Given the description of an element on the screen output the (x, y) to click on. 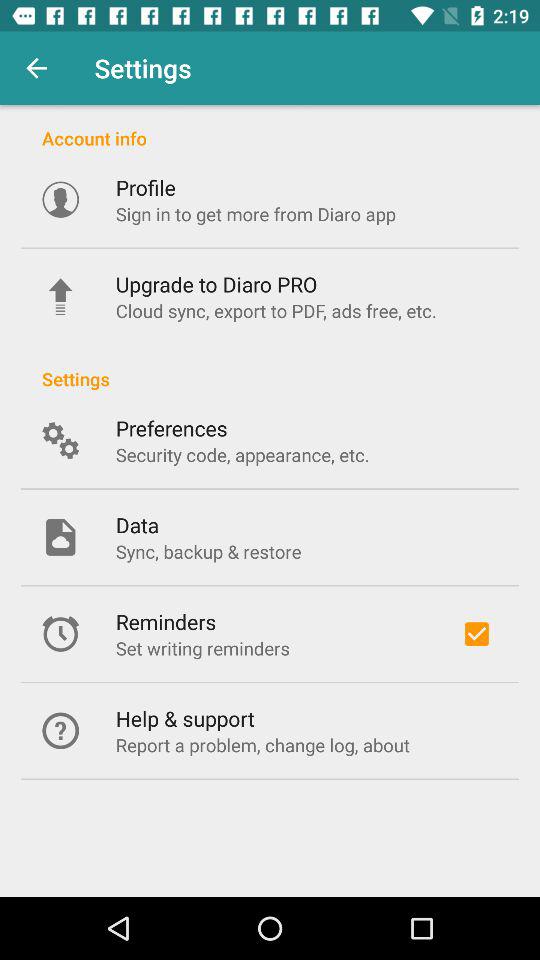
click the sign in to item (255, 213)
